Given the description of an element on the screen output the (x, y) to click on. 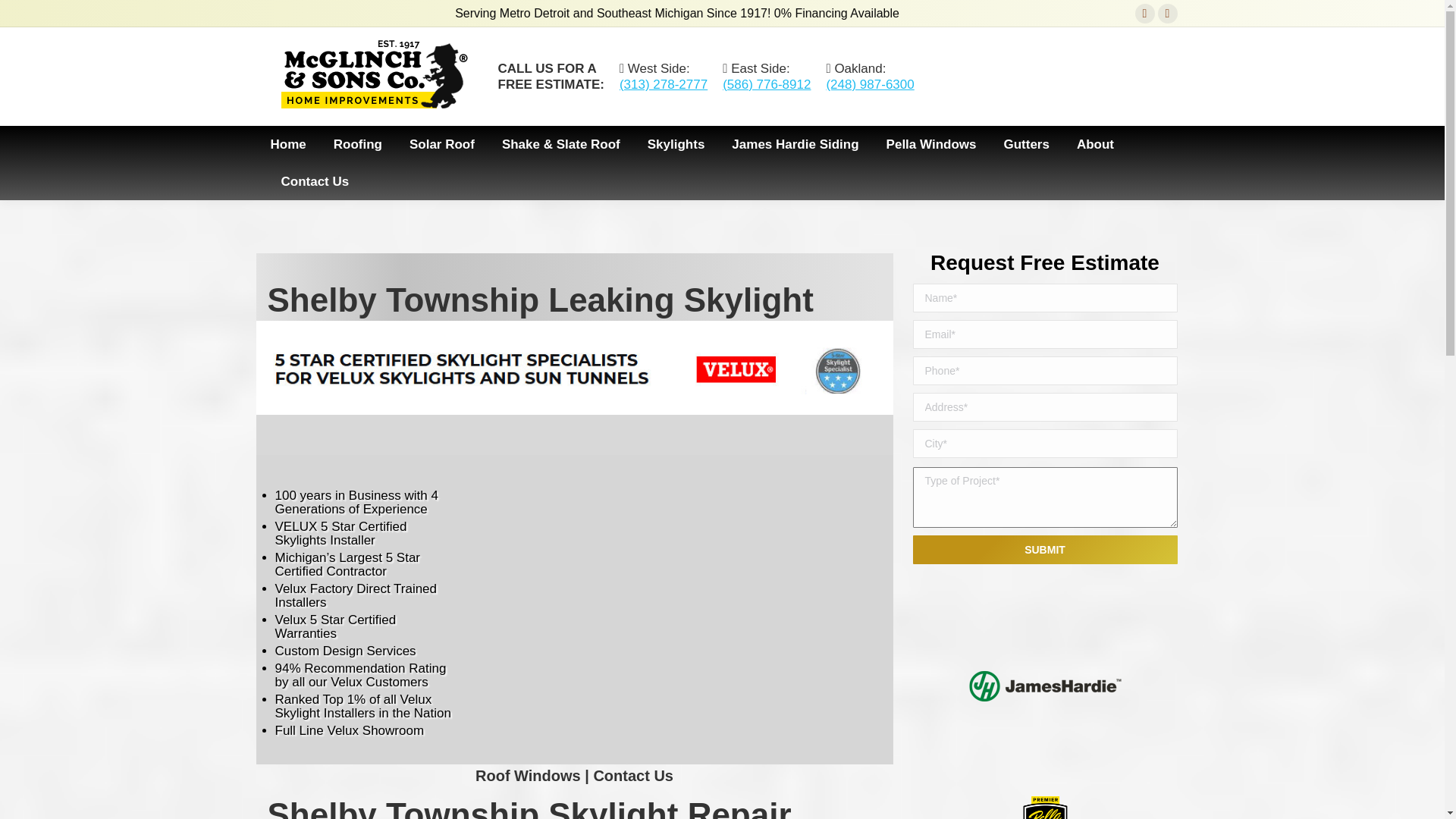
Facebook page opens in new window (1144, 13)
Twitter page opens in new window (1167, 13)
Solar Roof (441, 144)
Home (287, 144)
Pella Windows (931, 144)
About (1095, 144)
Roofing (357, 144)
Gutters (1025, 144)
Skylights (676, 144)
Contact Us (315, 181)
James Hardie Siding (795, 144)
Twitter page opens in new window (1167, 13)
SUBMIT (1044, 549)
Facebook page opens in new window (1144, 13)
